Given the description of an element on the screen output the (x, y) to click on. 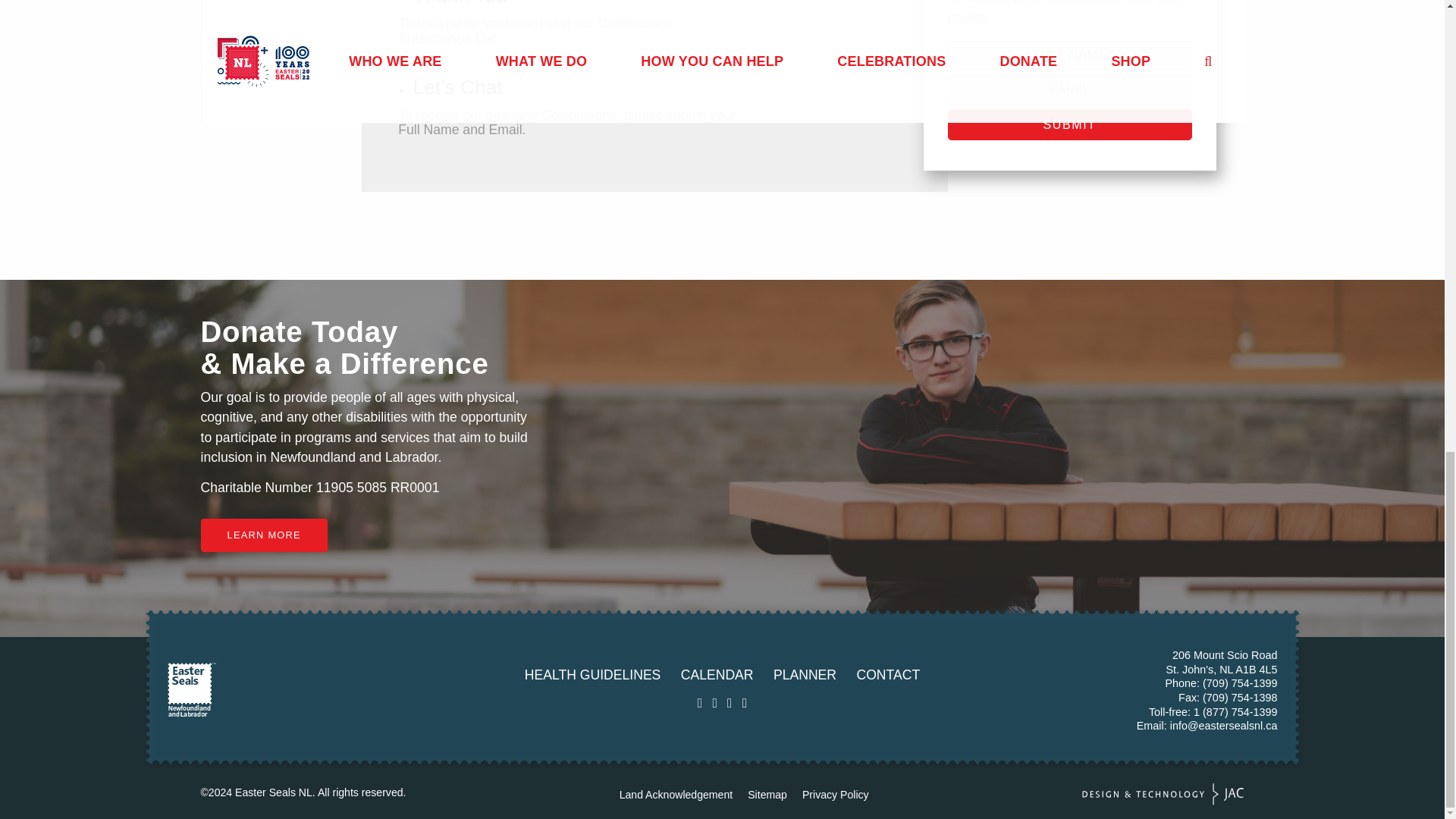
Submit (1069, 123)
JAC. We Create. (1162, 793)
